Given the description of an element on the screen output the (x, y) to click on. 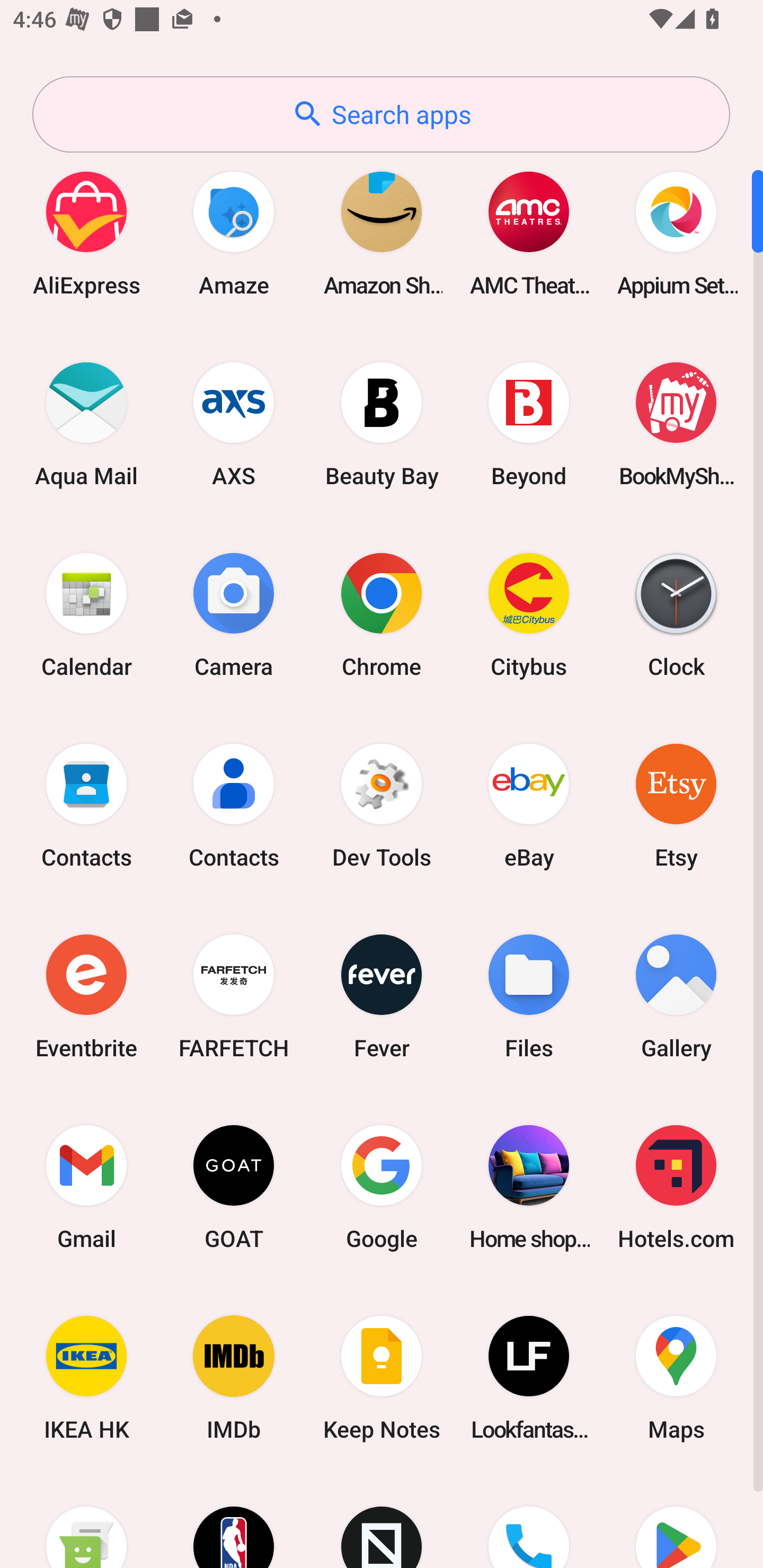
  Search apps (381, 114)
AliExpress (86, 233)
Amaze (233, 233)
Amazon Shopping (381, 233)
AMC Theatres (528, 233)
Appium Settings (676, 233)
Aqua Mail (86, 424)
AXS (233, 424)
Beauty Bay (381, 424)
Beyond (528, 424)
BookMyShow (676, 424)
Calendar (86, 614)
Camera (233, 614)
Chrome (381, 614)
Citybus (528, 614)
Clock (676, 614)
Contacts (86, 805)
Contacts (233, 805)
Dev Tools (381, 805)
eBay (528, 805)
Etsy (676, 805)
Eventbrite (86, 996)
FARFETCH (233, 996)
Fever (381, 996)
Files (528, 996)
Gallery (676, 996)
Gmail (86, 1186)
GOAT (233, 1186)
Google (381, 1186)
Home shopping (528, 1186)
Hotels.com (676, 1186)
IKEA HK (86, 1377)
IMDb (233, 1377)
Keep Notes (381, 1377)
Lookfantastic (528, 1377)
Maps (676, 1377)
